Given the description of an element on the screen output the (x, y) to click on. 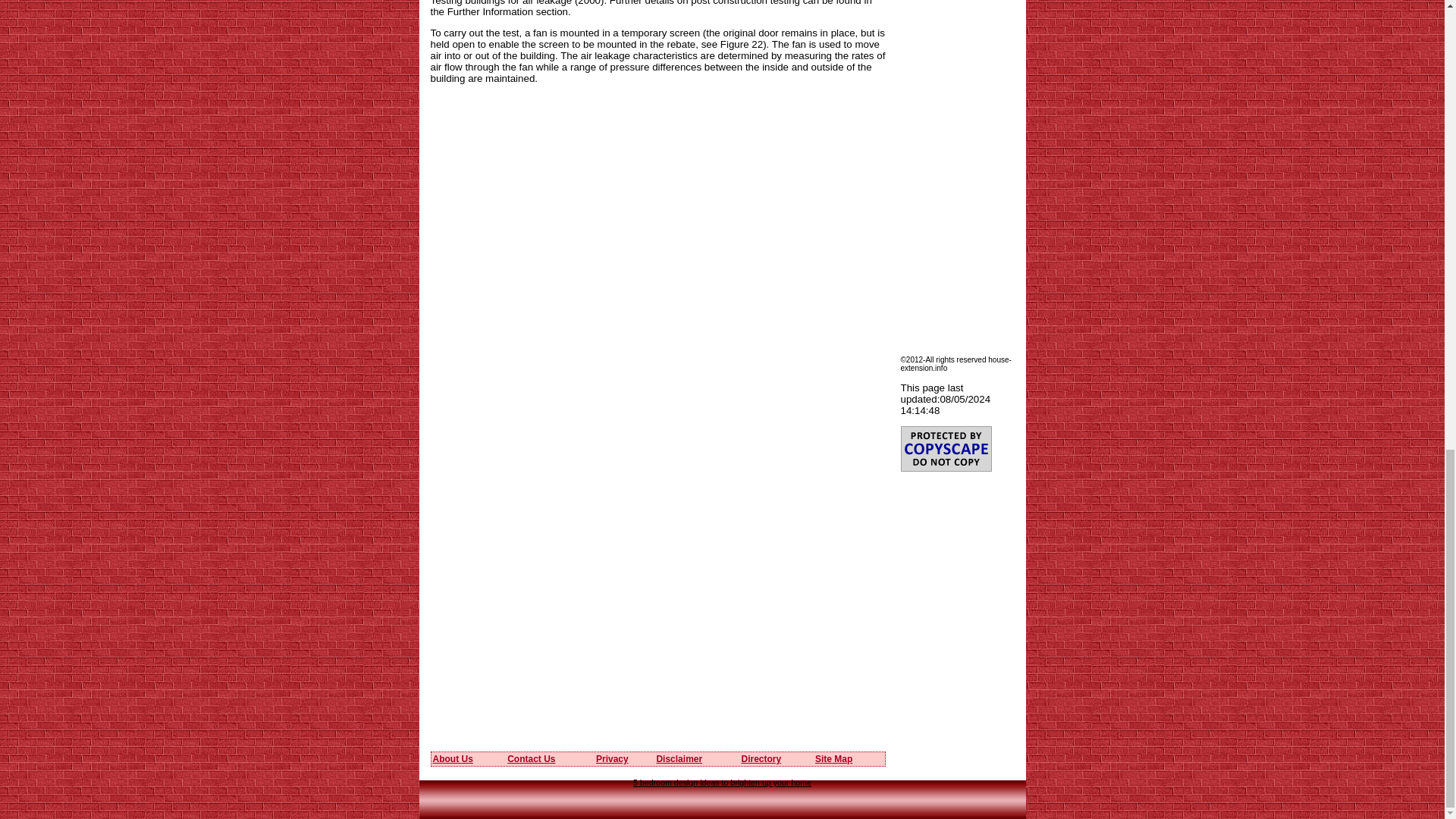
Privacy (611, 758)
5 bedroom design ideas to brighten up your home (721, 782)
Directory (760, 758)
About Us (451, 758)
Site Map (833, 758)
Contact Us (530, 758)
Disclaimer (678, 758)
